Given the description of an element on the screen output the (x, y) to click on. 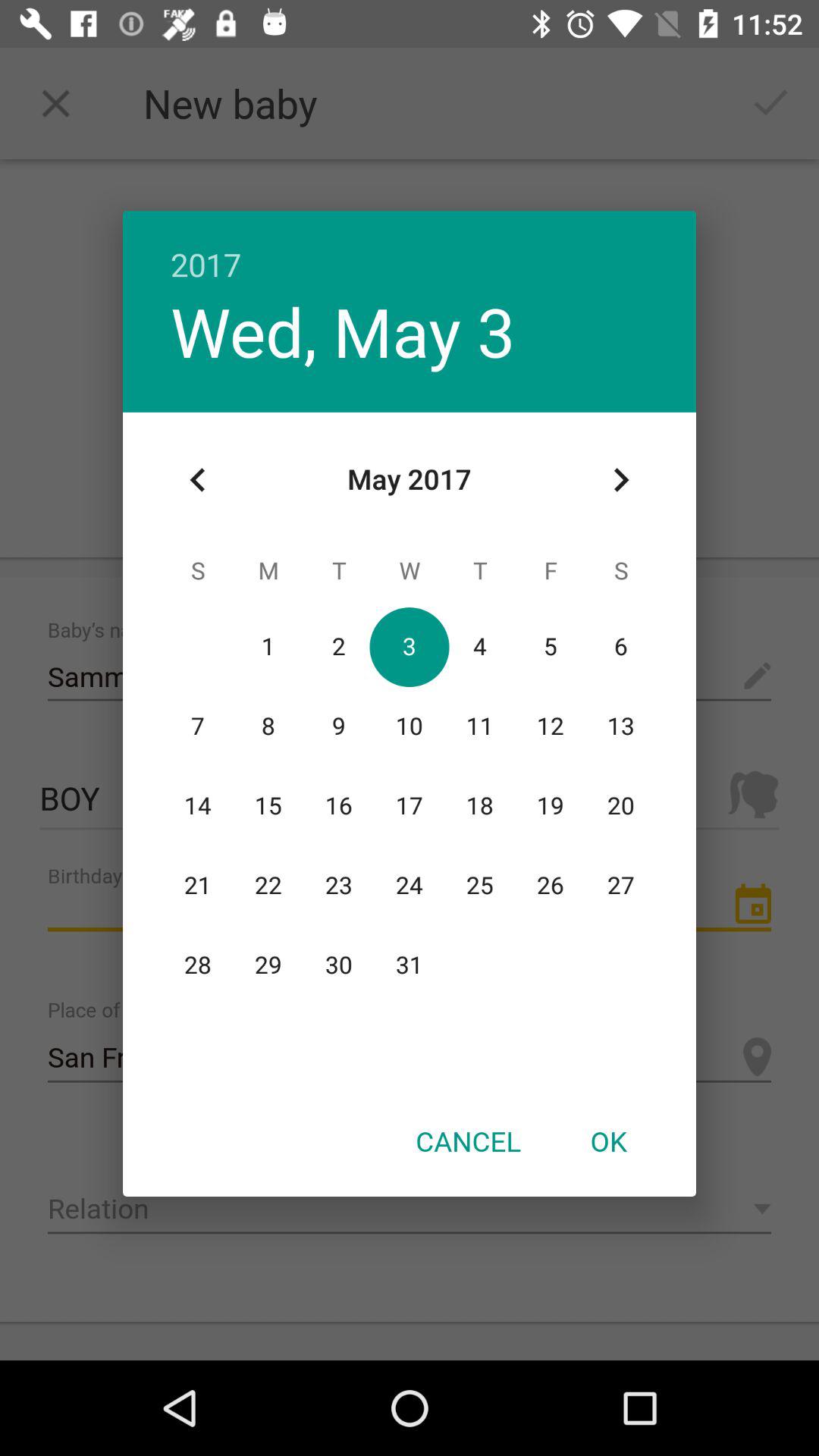
jump to the wed, may 3 item (342, 331)
